Given the description of an element on the screen output the (x, y) to click on. 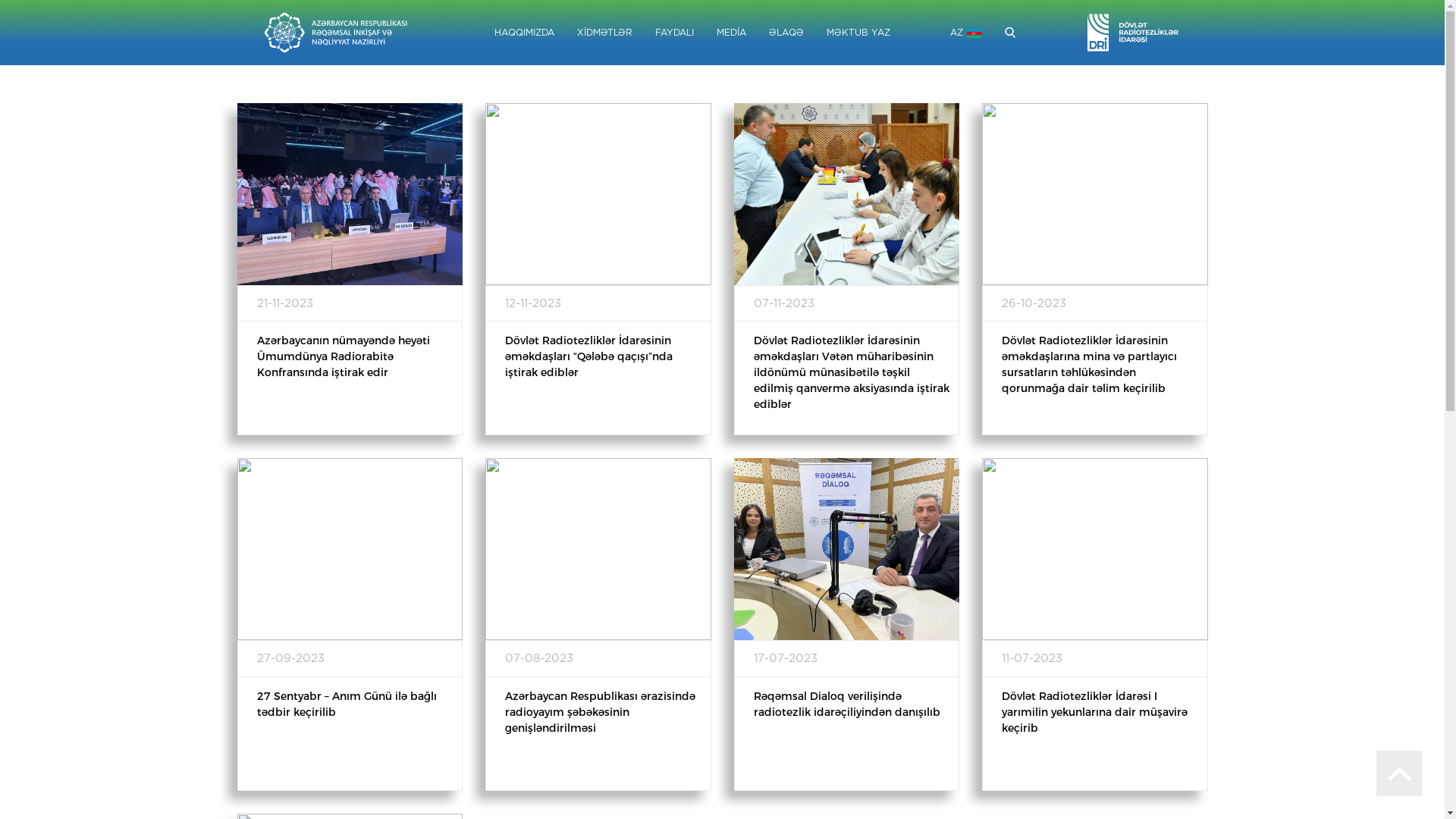
HAQQIMIZDA Element type: text (523, 31)
FAYDALI Element type: text (673, 31)
